Given the description of an element on the screen output the (x, y) to click on. 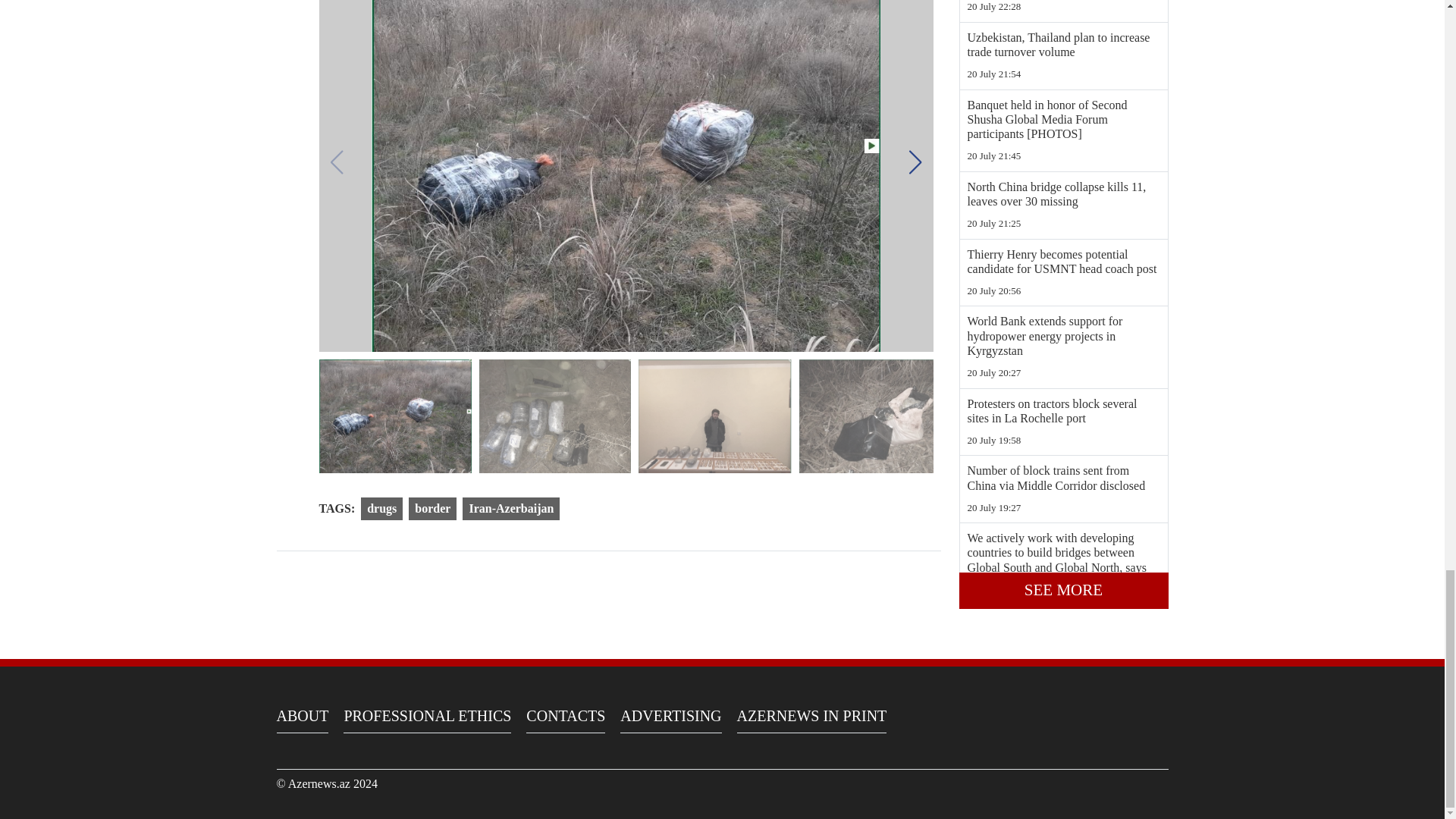
drugs (382, 508)
Iran-Azerbaijan (511, 508)
border (433, 508)
